Given the description of an element on the screen output the (x, y) to click on. 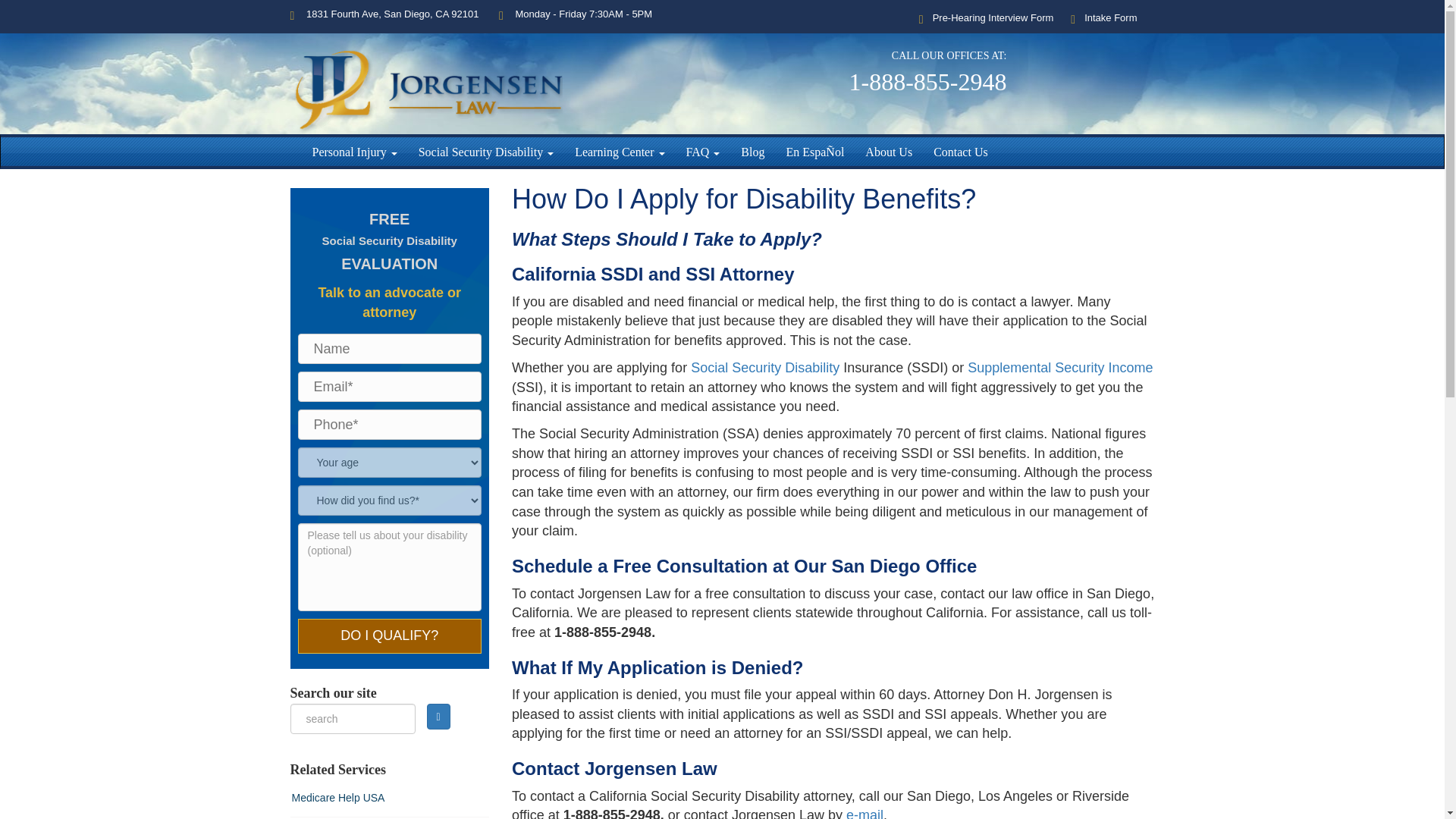
DO I QUALIFY? (389, 636)
Social Security Disability (485, 151)
Skip to content (329, 56)
Personal Injury (354, 151)
Learning Center (619, 151)
1-888-855-2948 (927, 82)
Intake Form (1103, 17)
Pre-Hearing Interview Form (986, 17)
Skip to content (329, 56)
Personal Injury (354, 151)
